Given the description of an element on the screen output the (x, y) to click on. 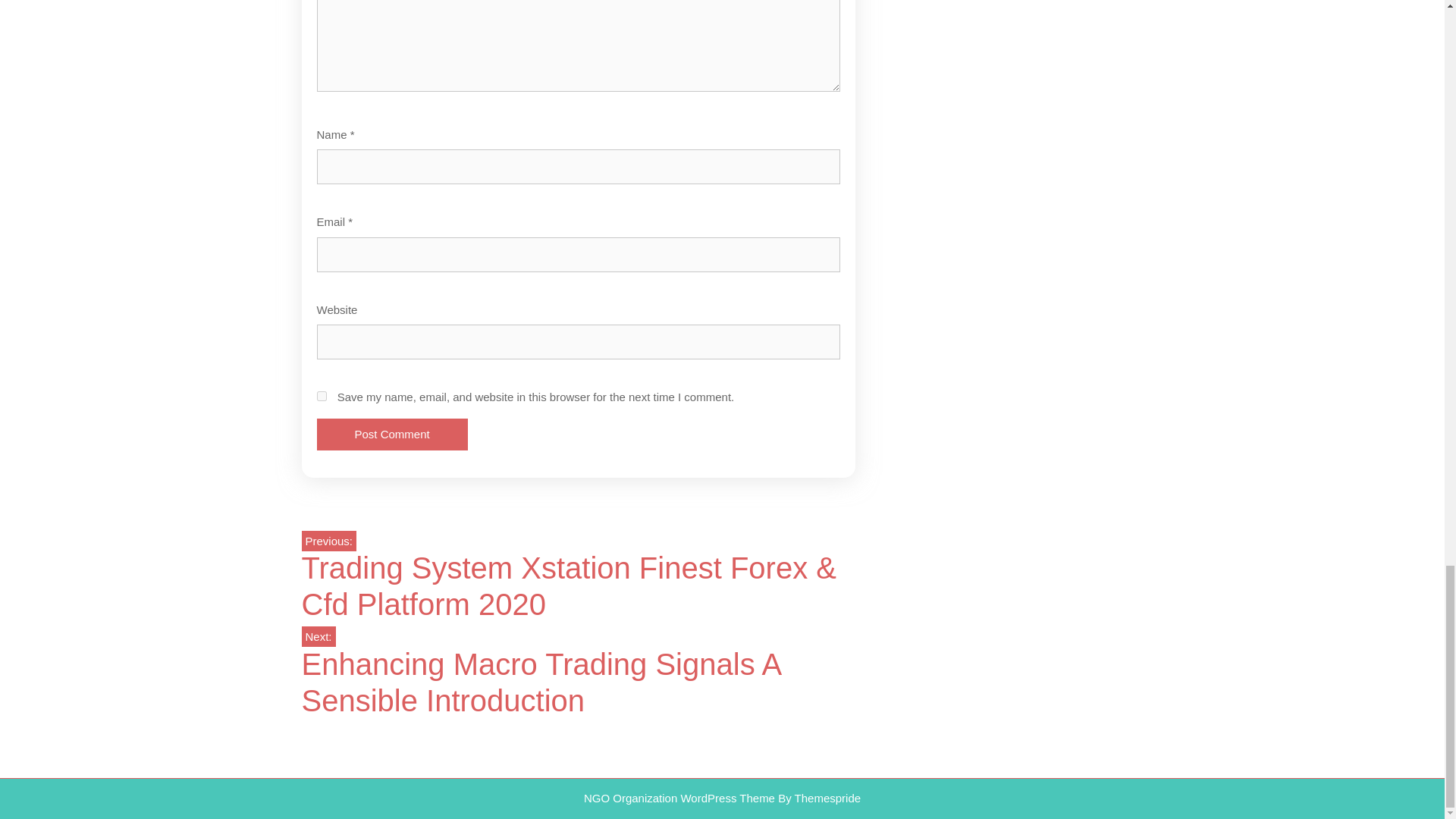
Post Comment (392, 434)
yes (321, 396)
NGO Organization WordPress Theme (678, 797)
Post Comment (392, 434)
